Given the description of an element on the screen output the (x, y) to click on. 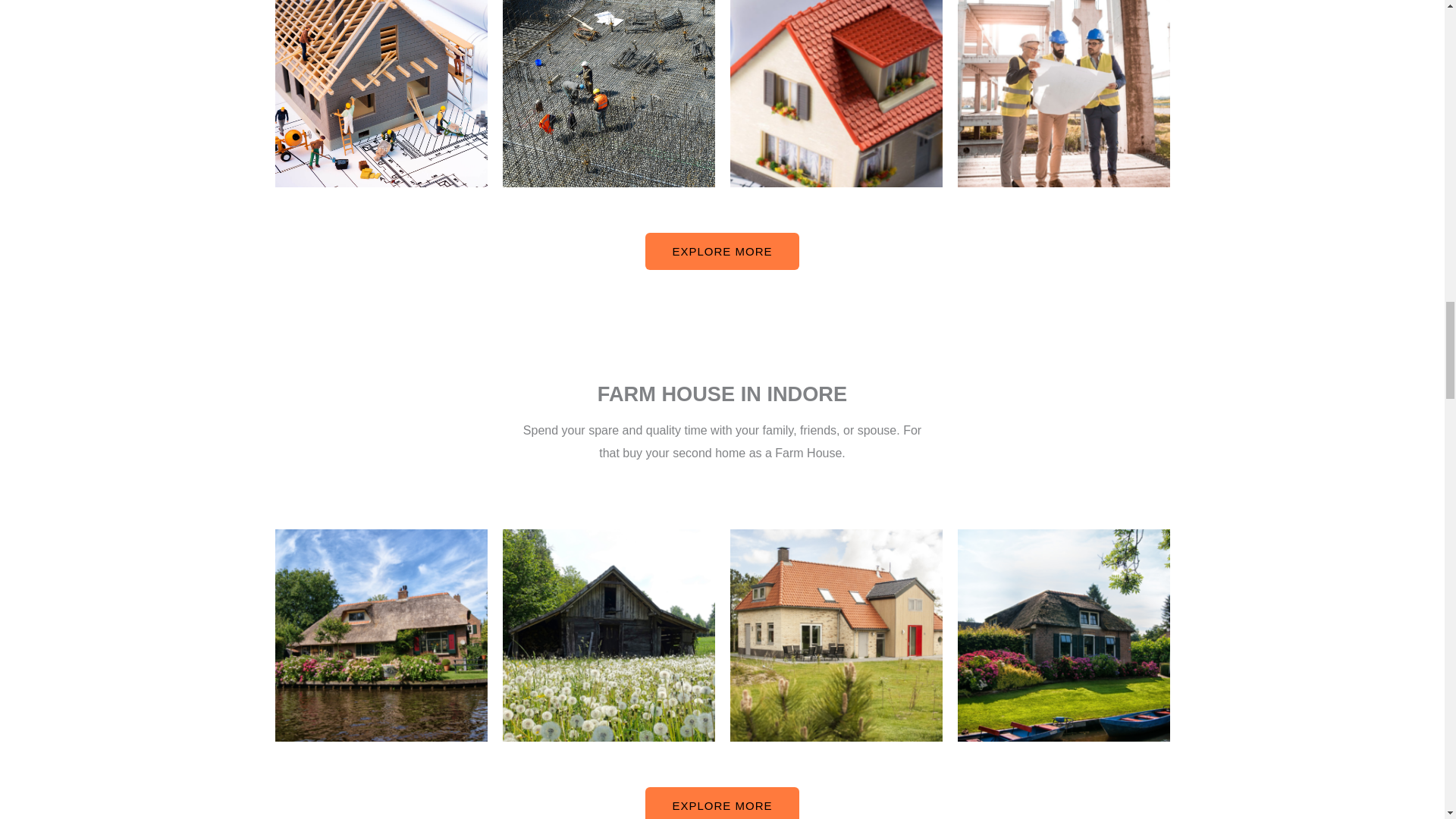
EXPLORE MORE (721, 251)
EXPLORE MORE (721, 803)
